Given the description of an element on the screen output the (x, y) to click on. 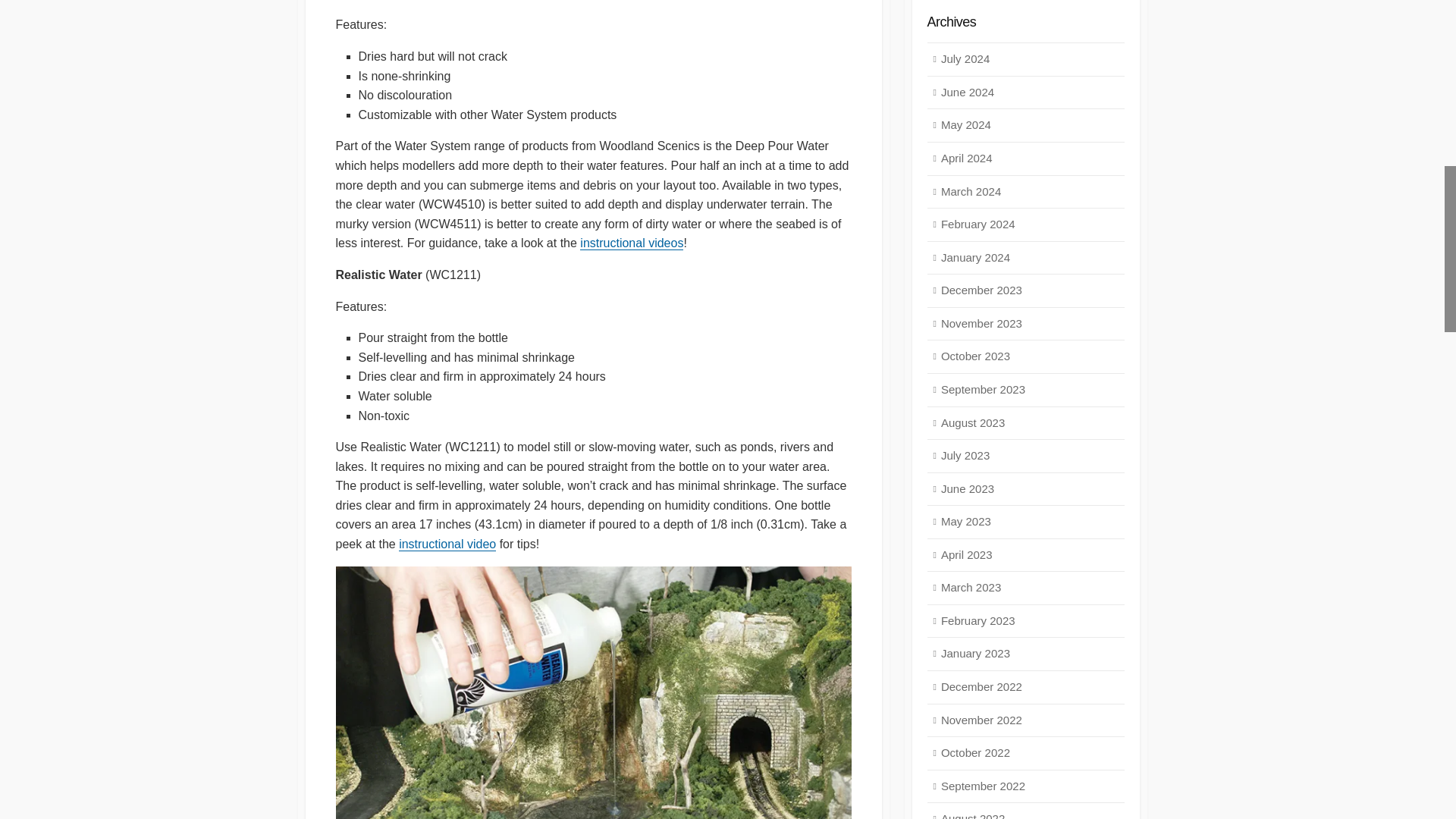
instructional video (447, 543)
Showing the ease of the Woodland Scenics Water System (592, 692)
instructional videos (630, 242)
